Given the description of an element on the screen output the (x, y) to click on. 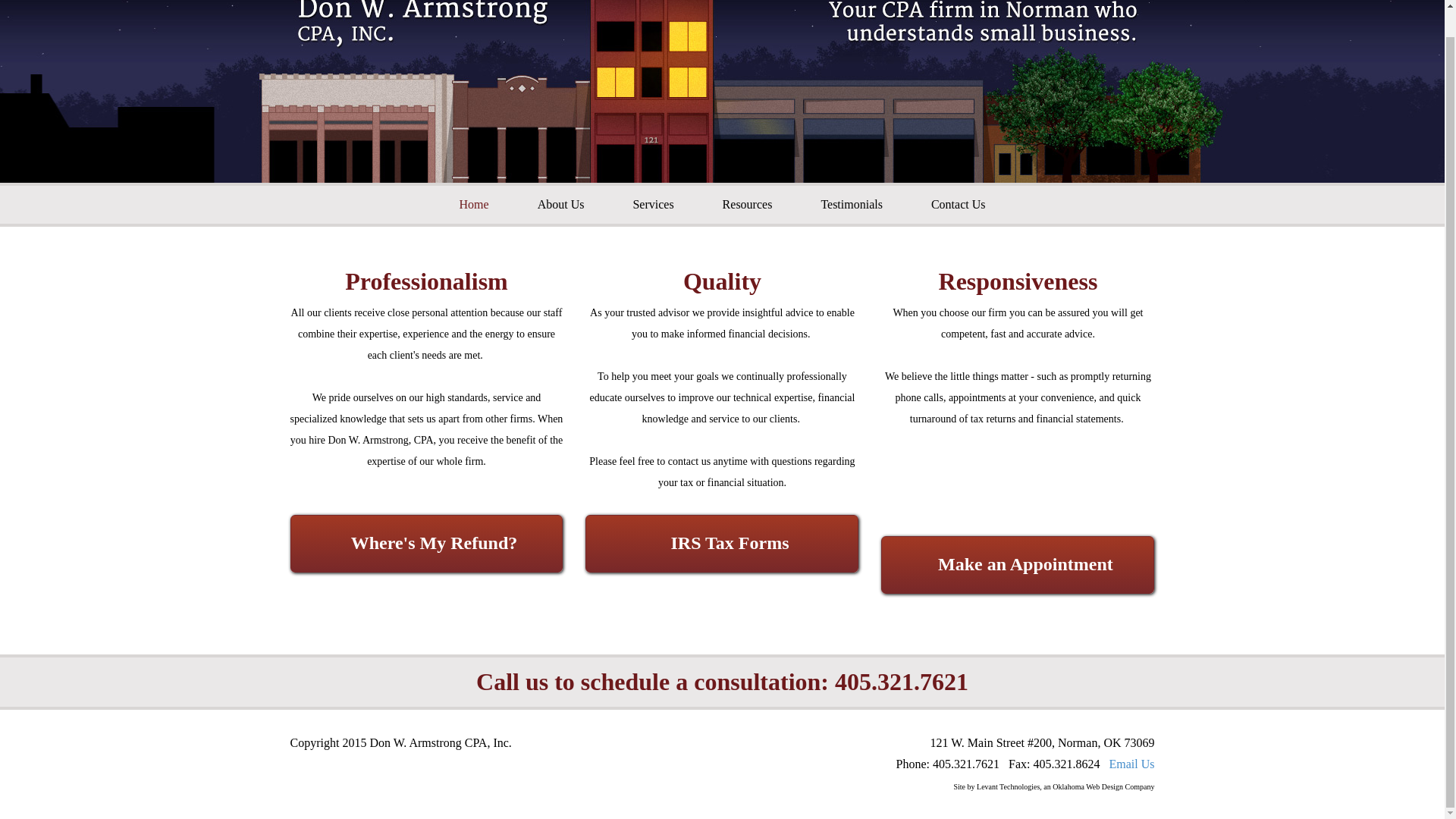
Email Us (1131, 763)
Email Us (1131, 763)
Call us to schedule a consultation: 405.321.7621 (721, 682)
Where's My Refund? (425, 543)
About Us (560, 204)
Testimonials (851, 204)
Make an Appointment (1017, 564)
Home (474, 204)
Site by Levant Technologies, an Oklahoma Web Design Company (1053, 786)
Services (652, 204)
